Given the description of an element on the screen output the (x, y) to click on. 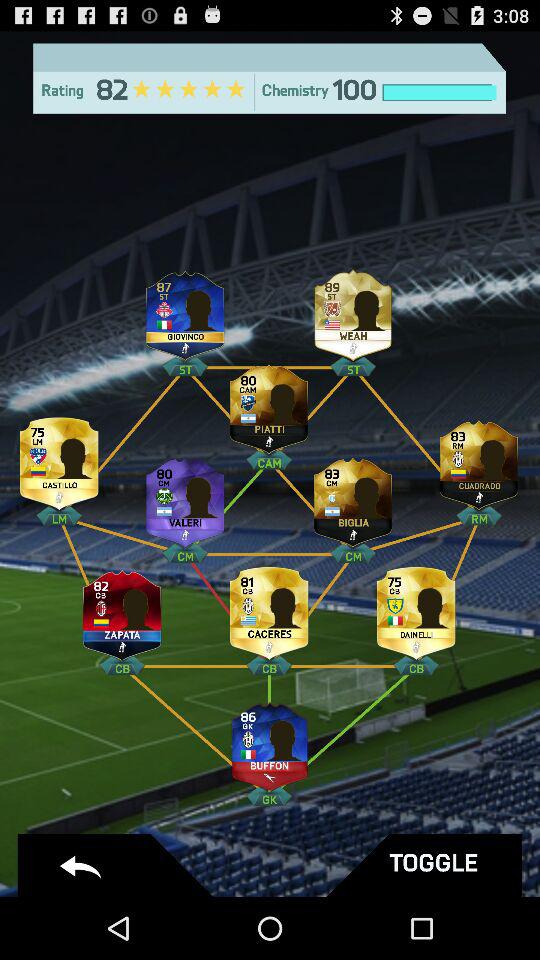
click for more info (416, 609)
